Given the description of an element on the screen output the (x, y) to click on. 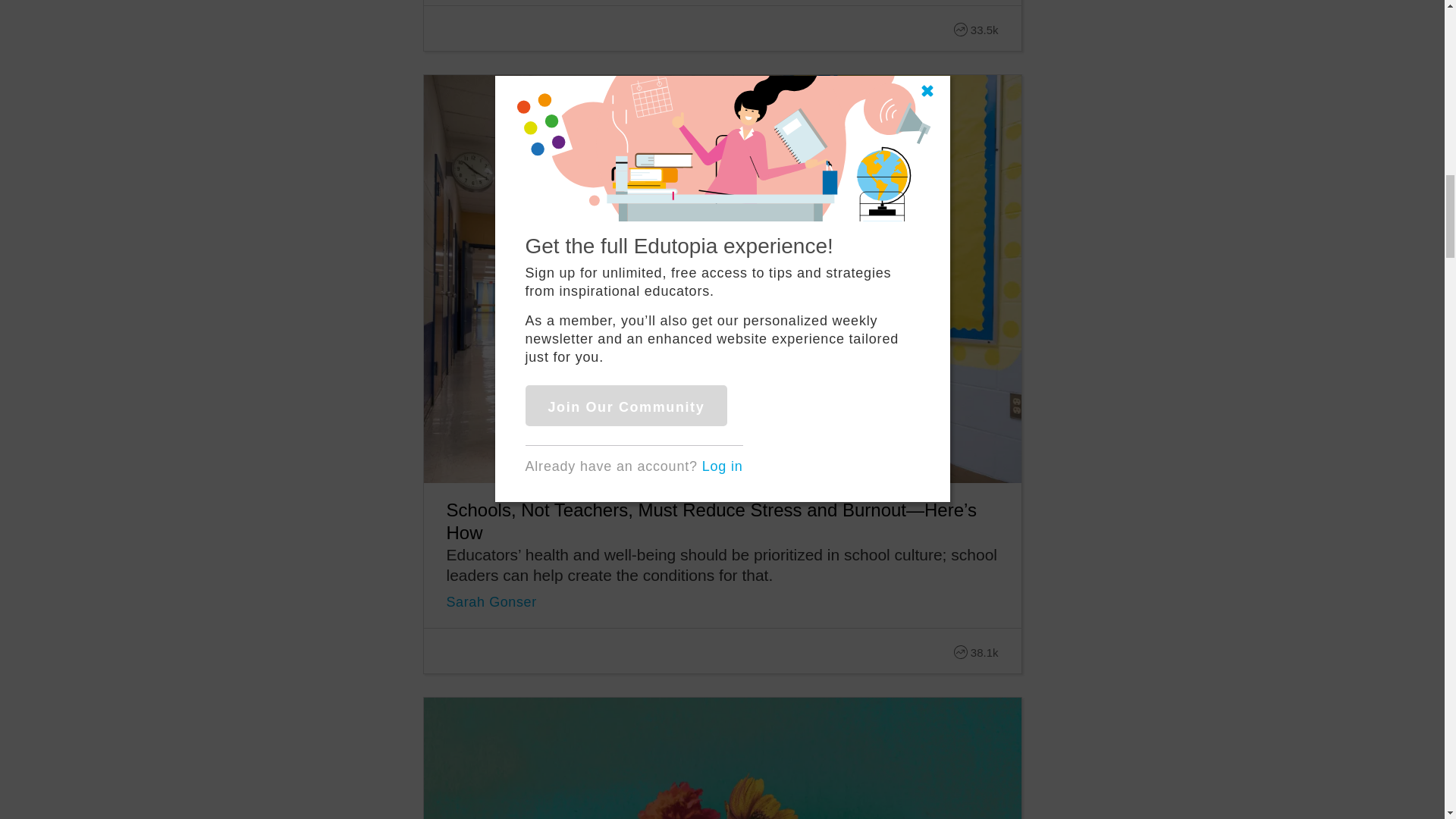
Sarah Gonser (490, 601)
